Given the description of an element on the screen output the (x, y) to click on. 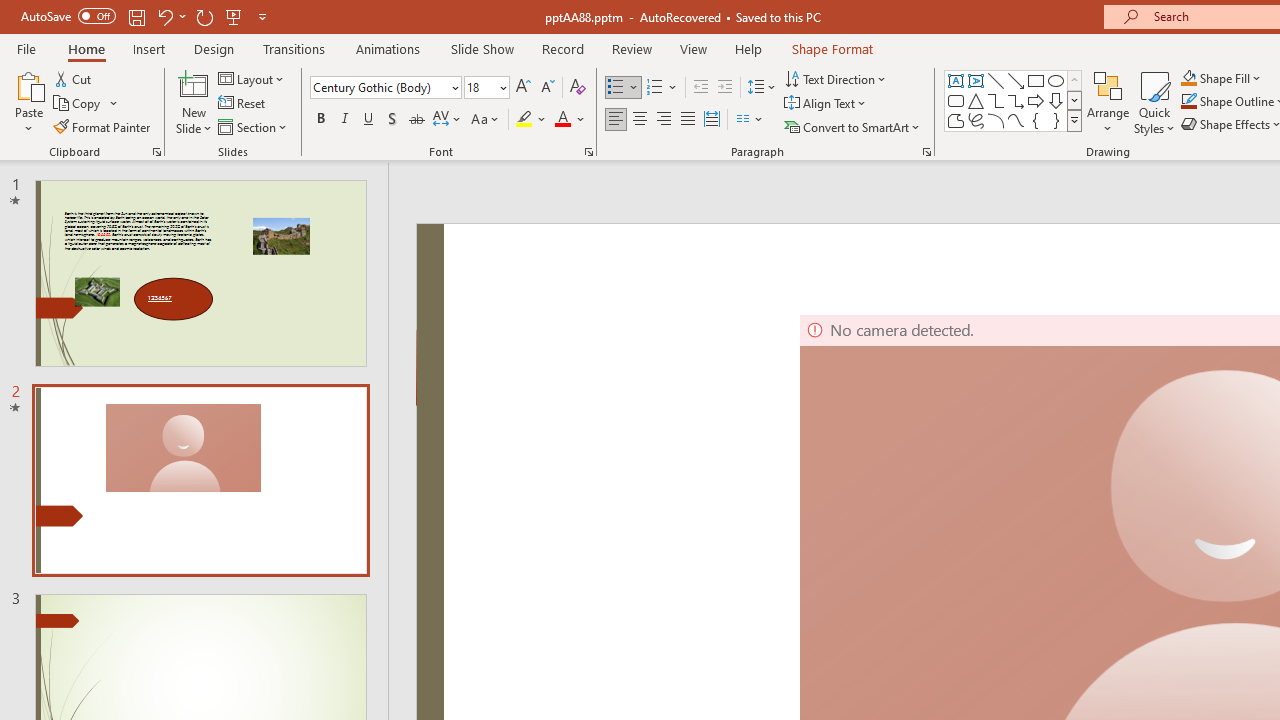
Shape Outline Teal, Accent 1 (1188, 101)
